Given the description of an element on the screen output the (x, y) to click on. 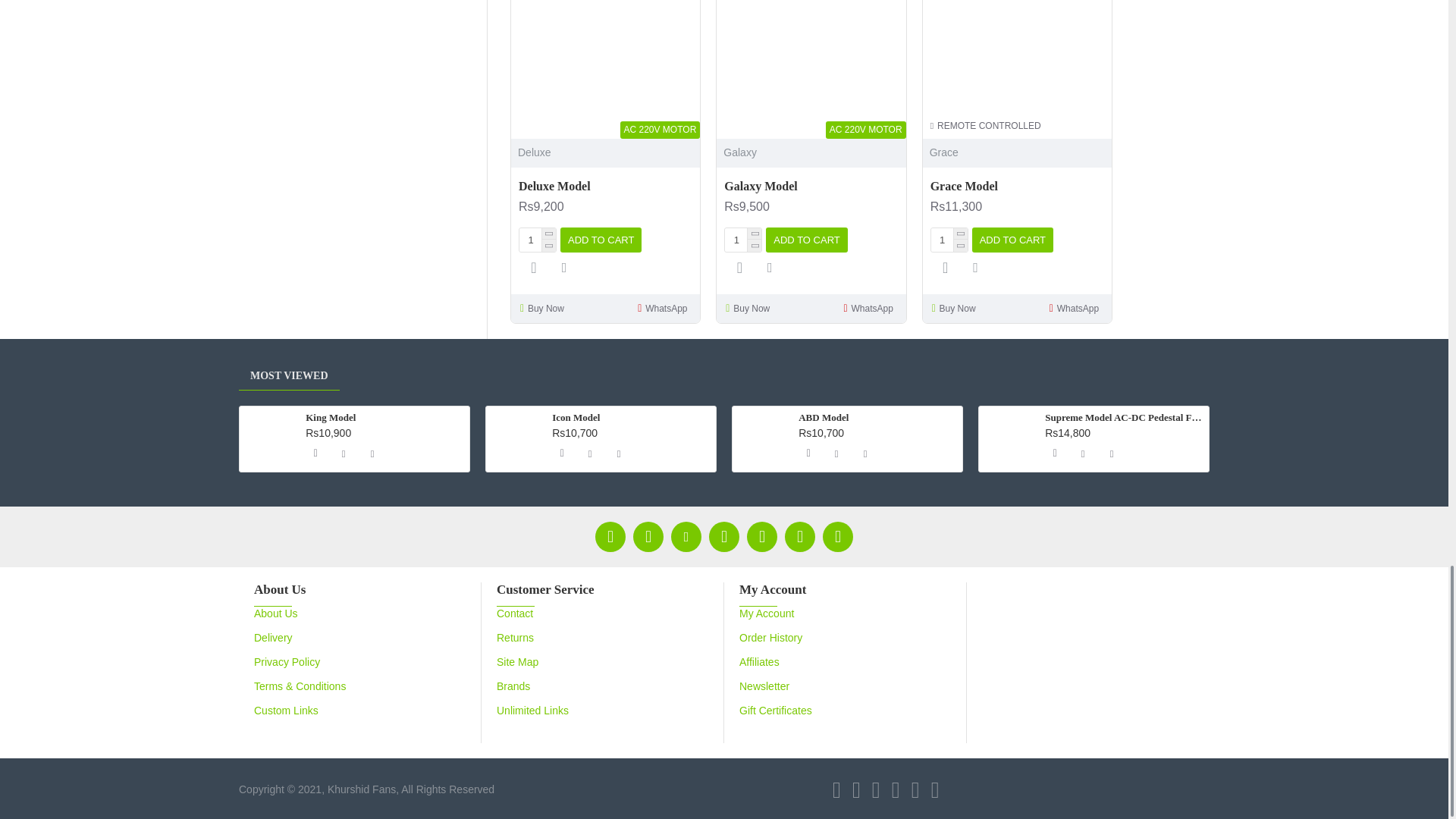
1 (949, 239)
1 (537, 239)
1 (743, 239)
